Given the description of an element on the screen output the (x, y) to click on. 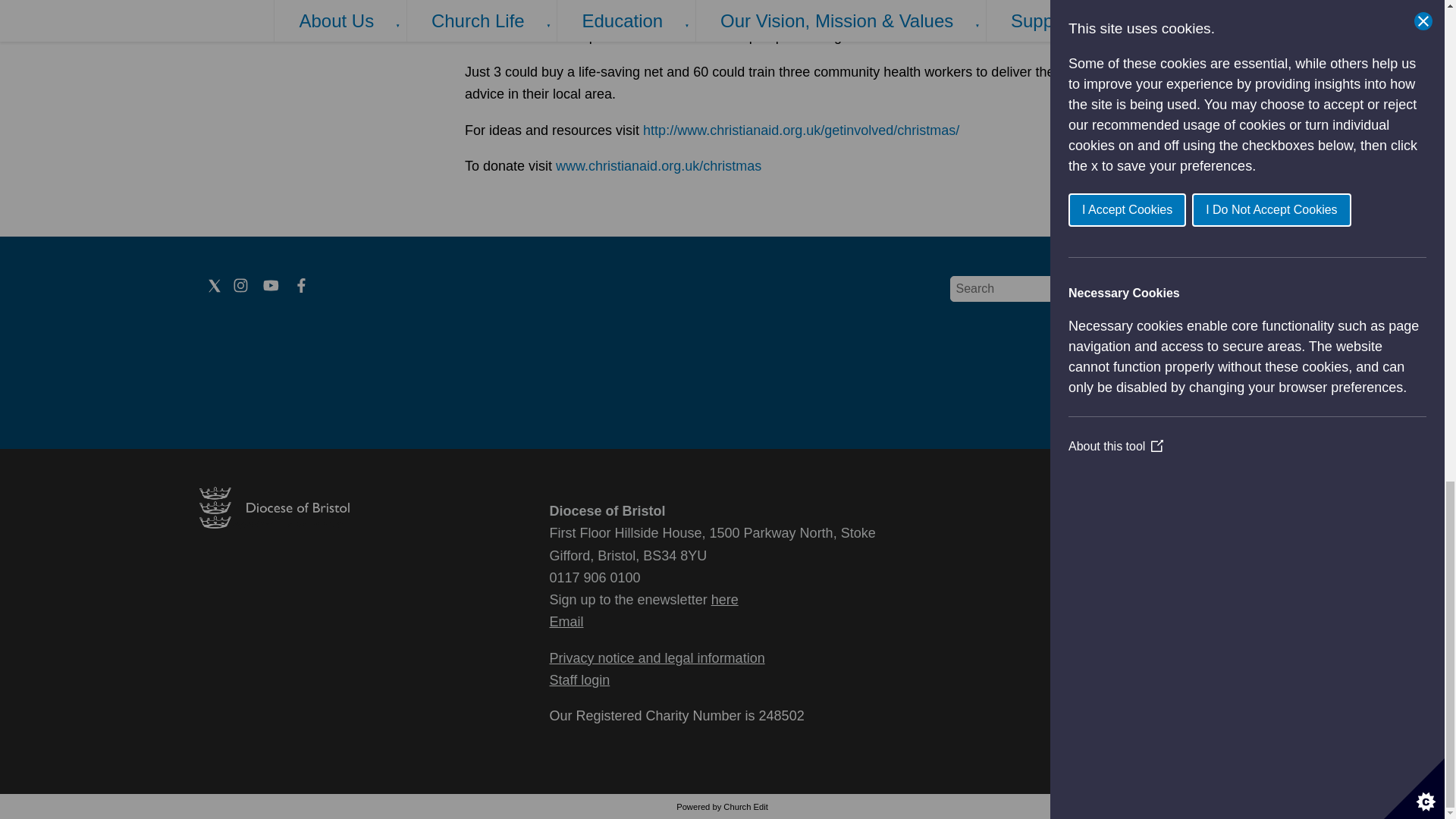
Diocese of Bristol Logo (273, 523)
